Given the description of an element on the screen output the (x, y) to click on. 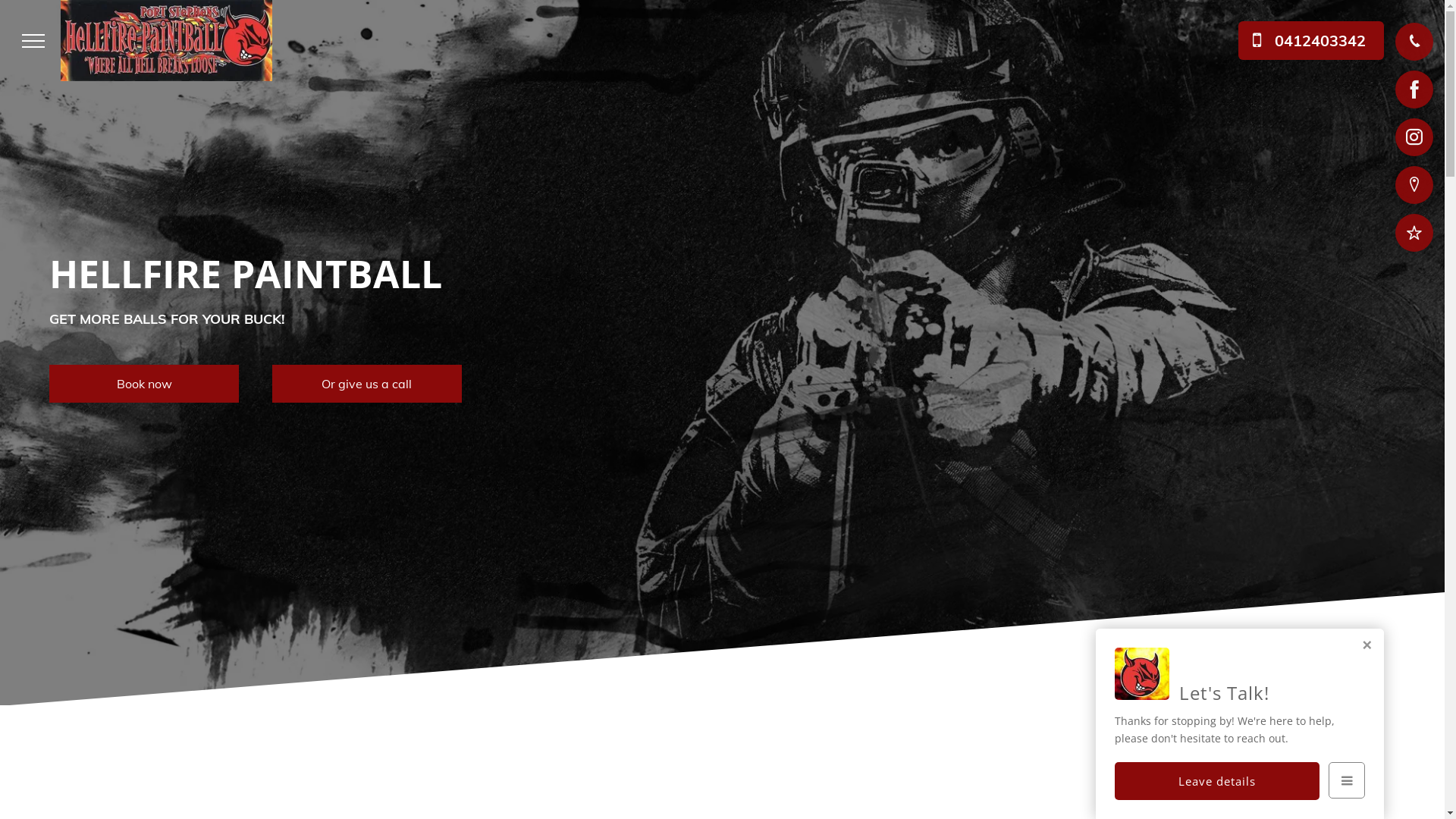
0412403342 Element type: text (1310, 40)
Leave details Element type: text (1216, 781)
Book now Element type: text (143, 383)
Or give us a call Element type: text (366, 383)
